Given the description of an element on the screen output the (x, y) to click on. 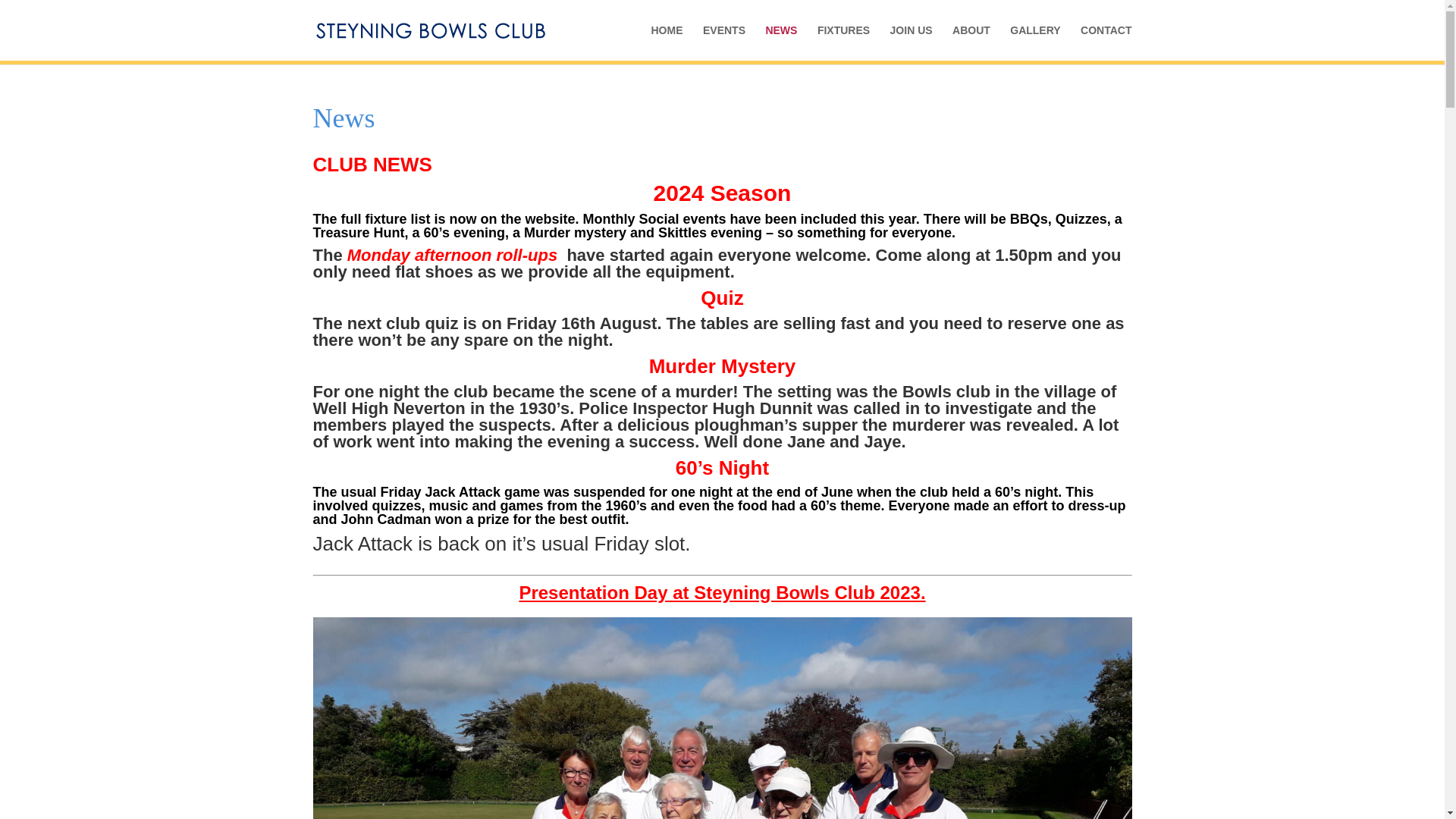
CONTACT (1105, 42)
NEWS (780, 42)
GALLERY (1034, 42)
HOME (666, 42)
JOIN US (911, 42)
FIXTURES (842, 42)
EVENTS (724, 42)
ABOUT (971, 42)
